Given the description of an element on the screen output the (x, y) to click on. 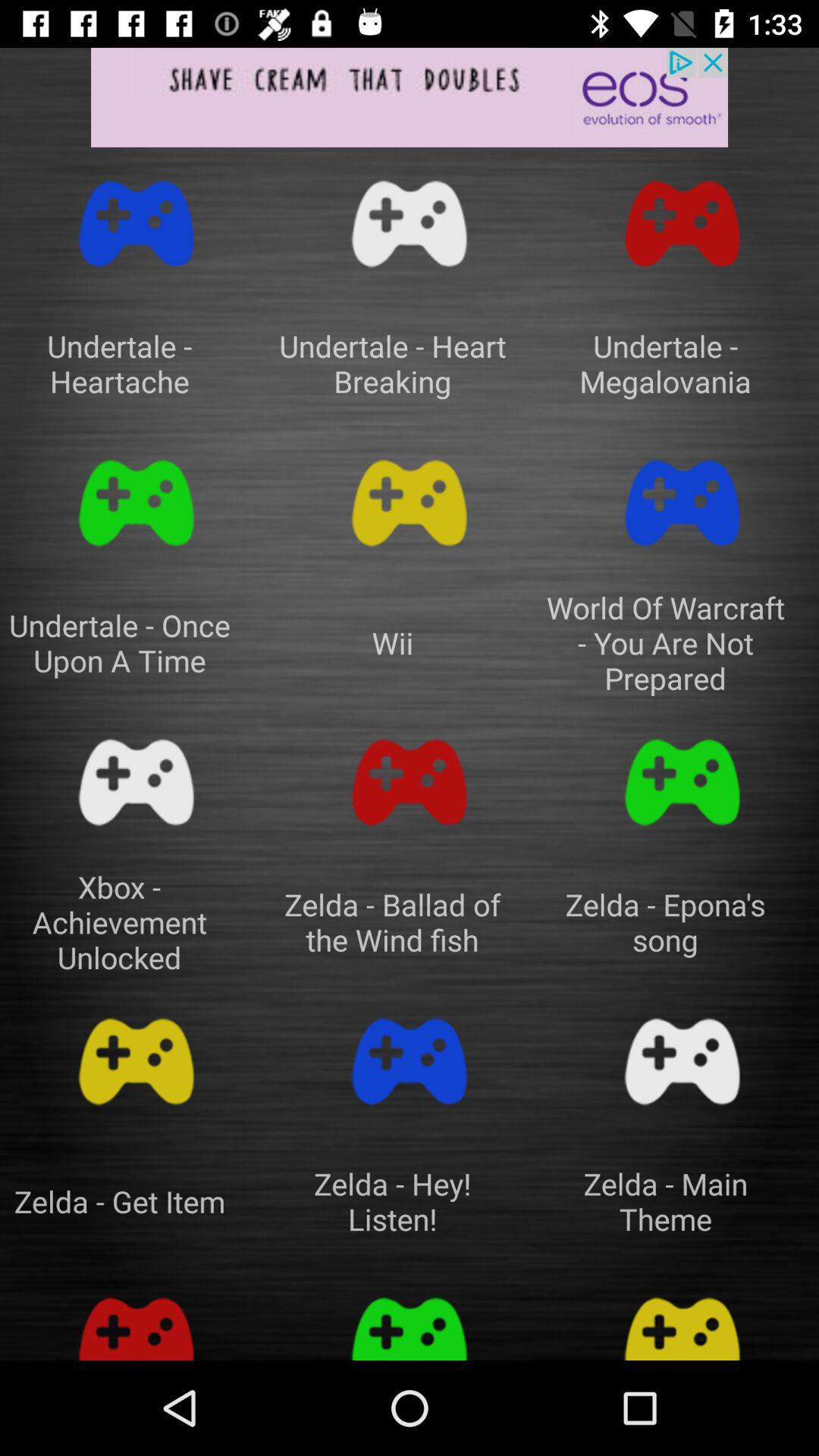
advertisement banner (409, 97)
